Given the description of an element on the screen output the (x, y) to click on. 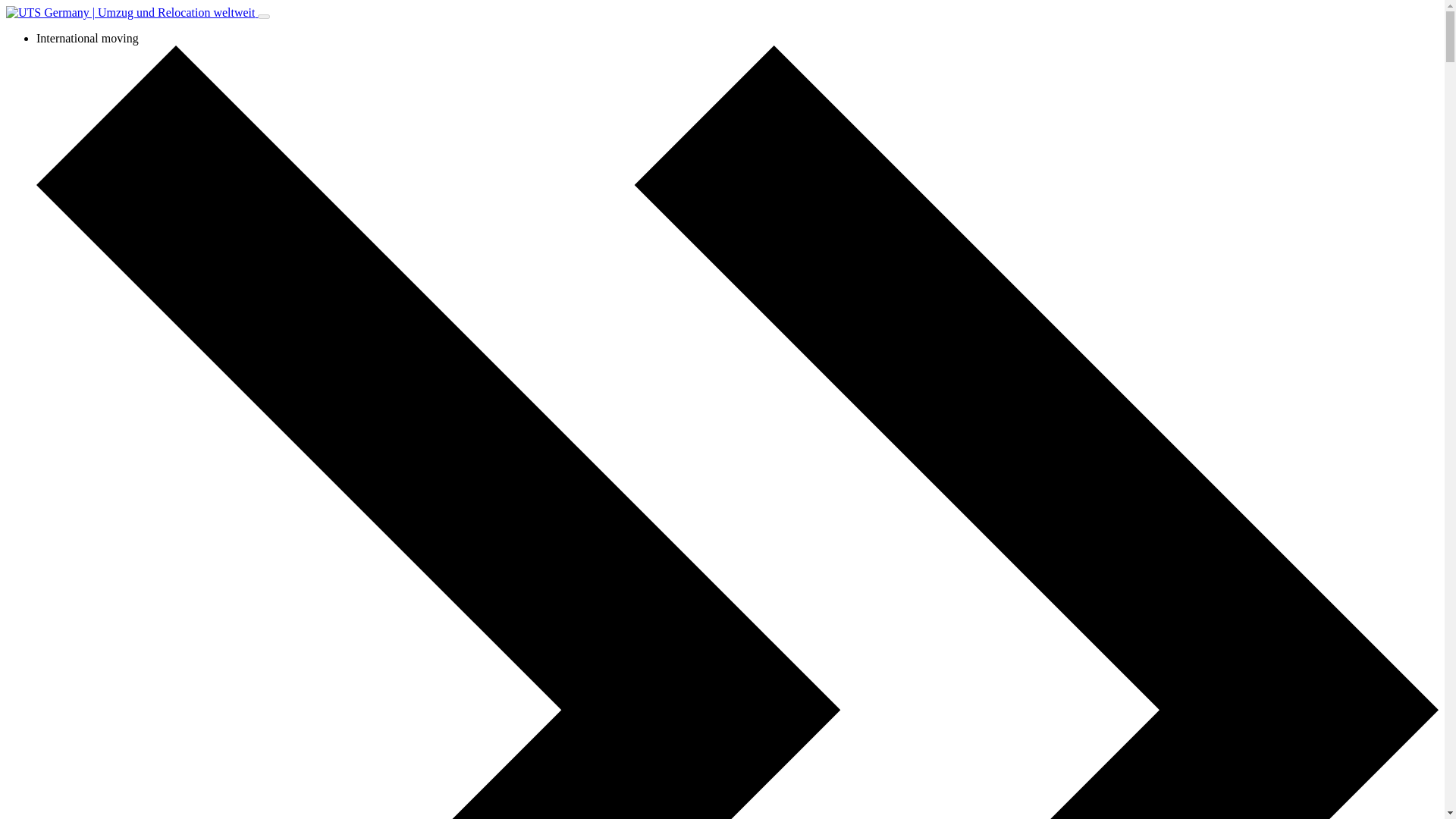
Logo (131, 11)
International moving (87, 38)
